Given the description of an element on the screen output the (x, y) to click on. 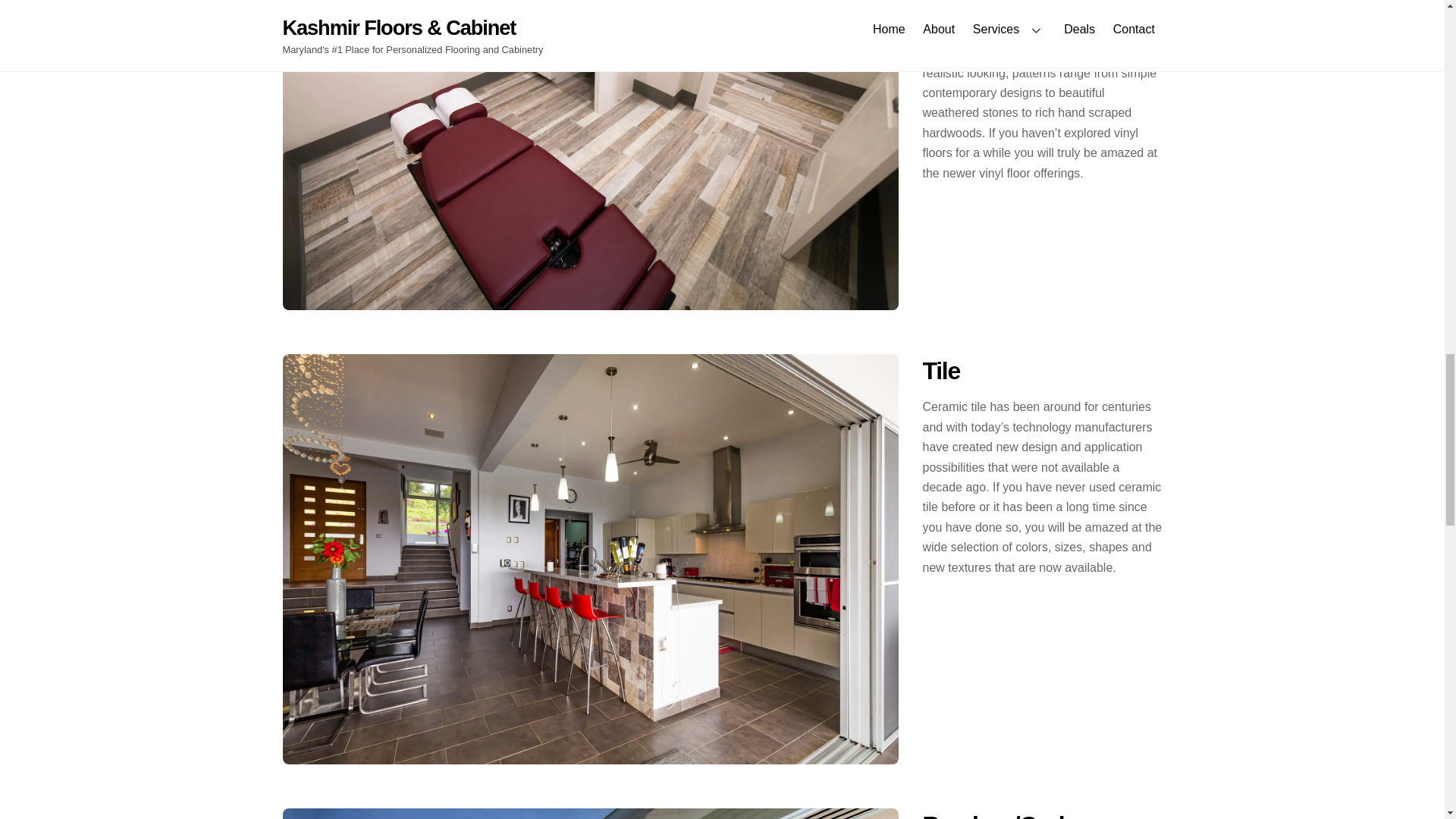
bamboo (590, 813)
